Given the description of an element on the screen output the (x, y) to click on. 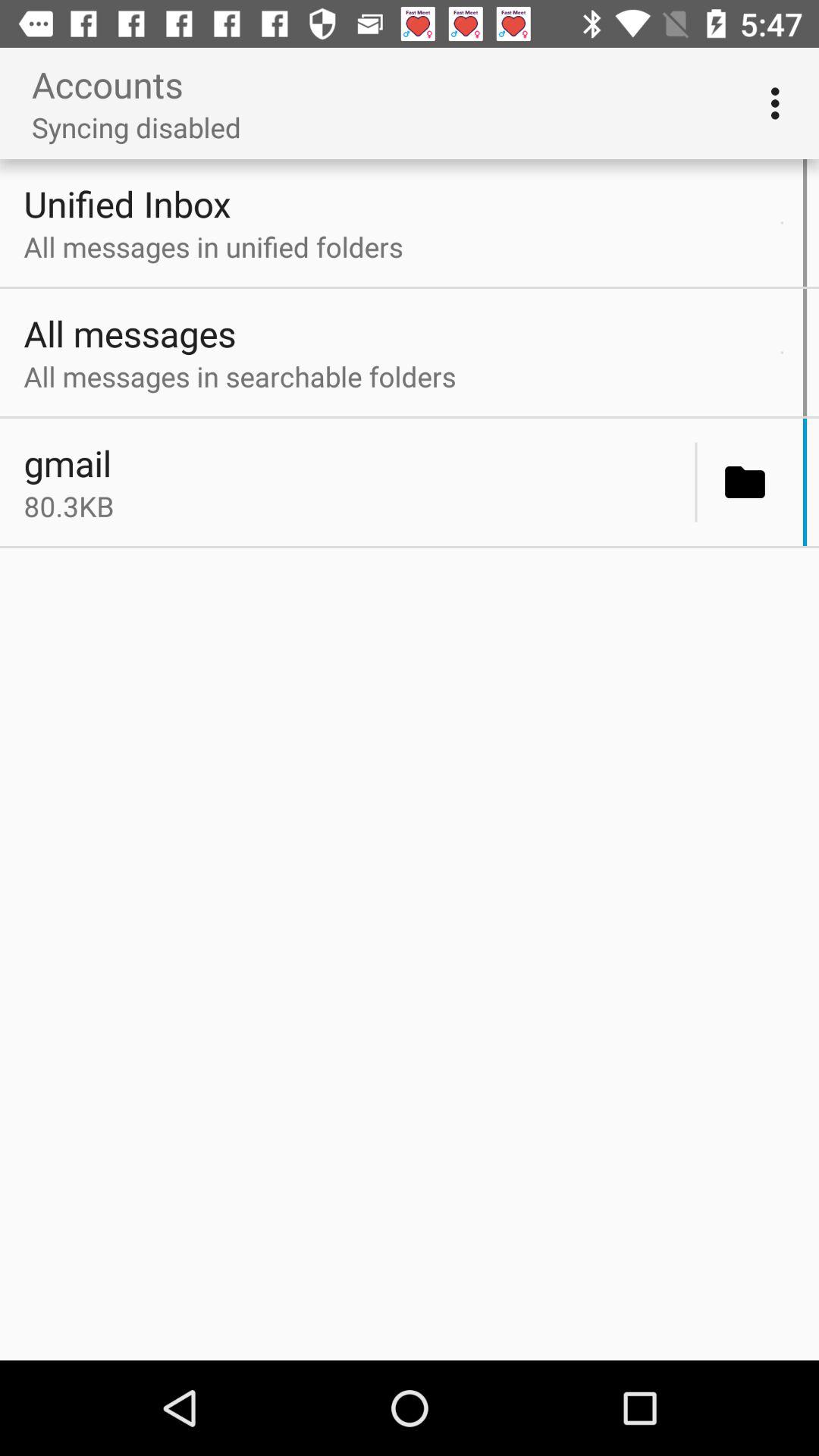
turn off the item at the center (355, 505)
